Given the description of an element on the screen output the (x, y) to click on. 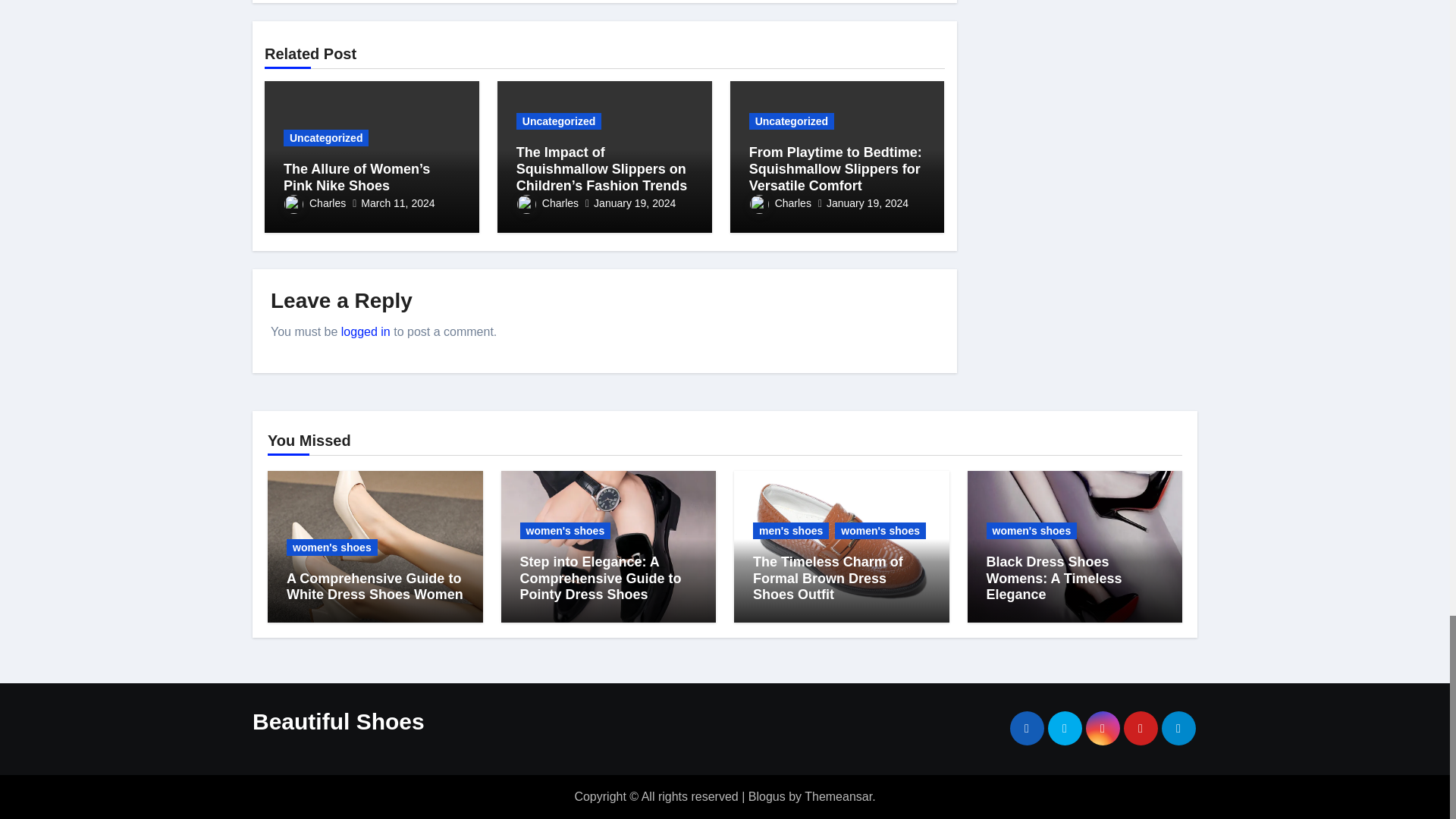
Uncategorized (325, 137)
Permalink to: Black Dress Shoes Womens: A Timeless Elegance (1053, 577)
